Given the description of an element on the screen output the (x, y) to click on. 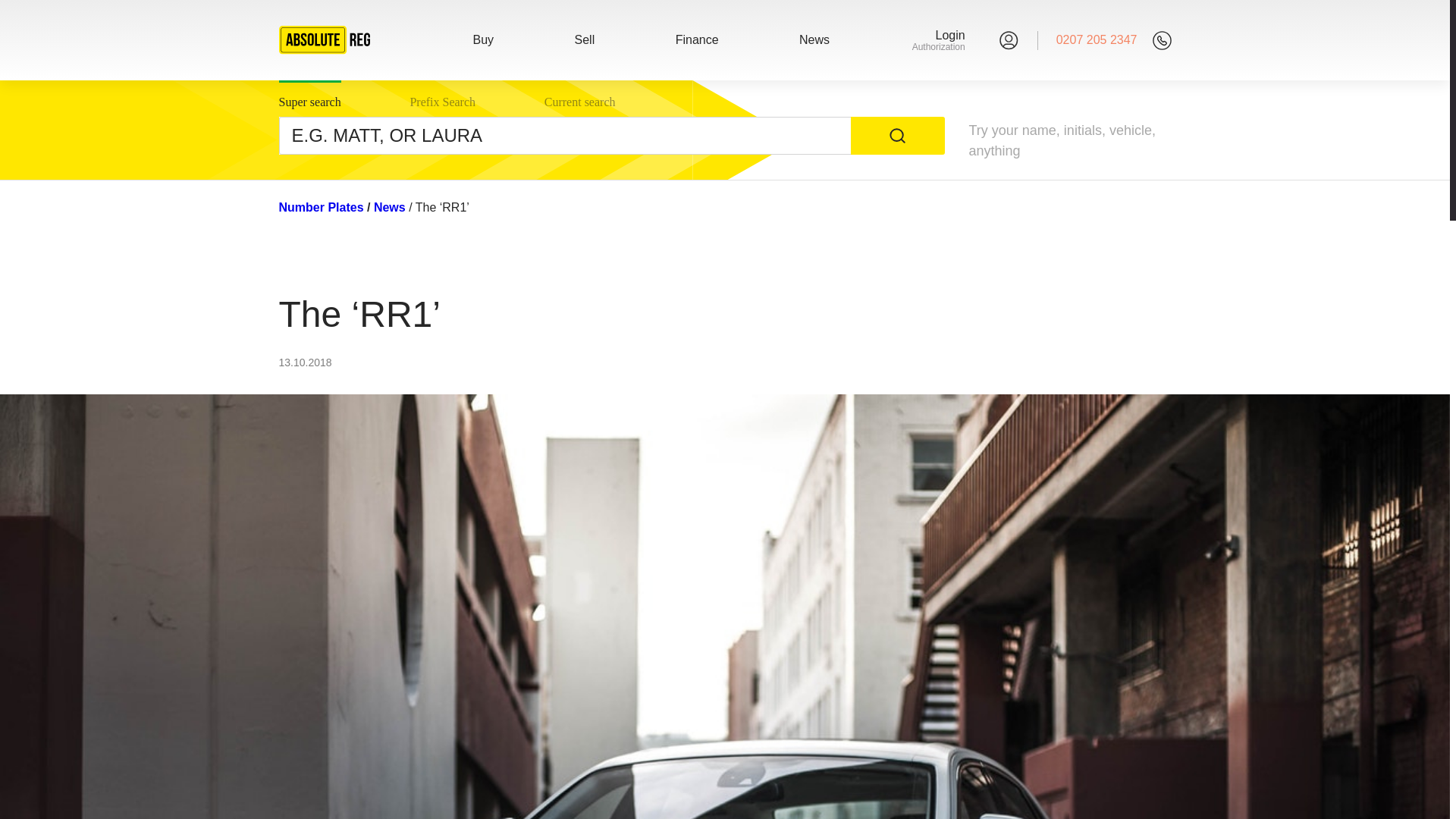
Prefix Search (442, 98)
0207 205 2347 (1097, 39)
Buy (483, 39)
Current search (579, 98)
Finance (697, 39)
Sell (584, 39)
News (814, 39)
Super search (948, 39)
